Given the description of an element on the screen output the (x, y) to click on. 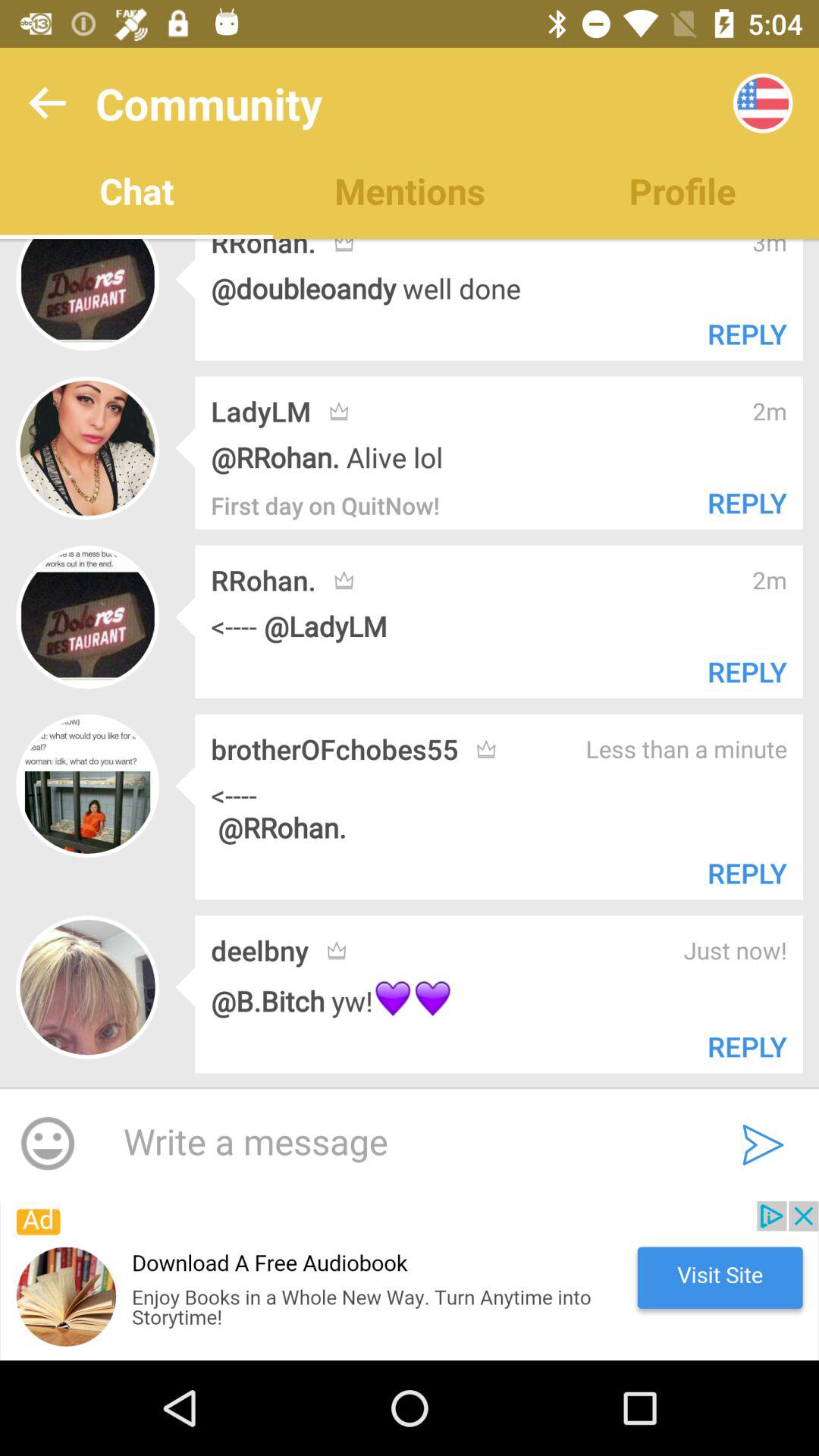
write message here (401, 1143)
